Given the description of an element on the screen output the (x, y) to click on. 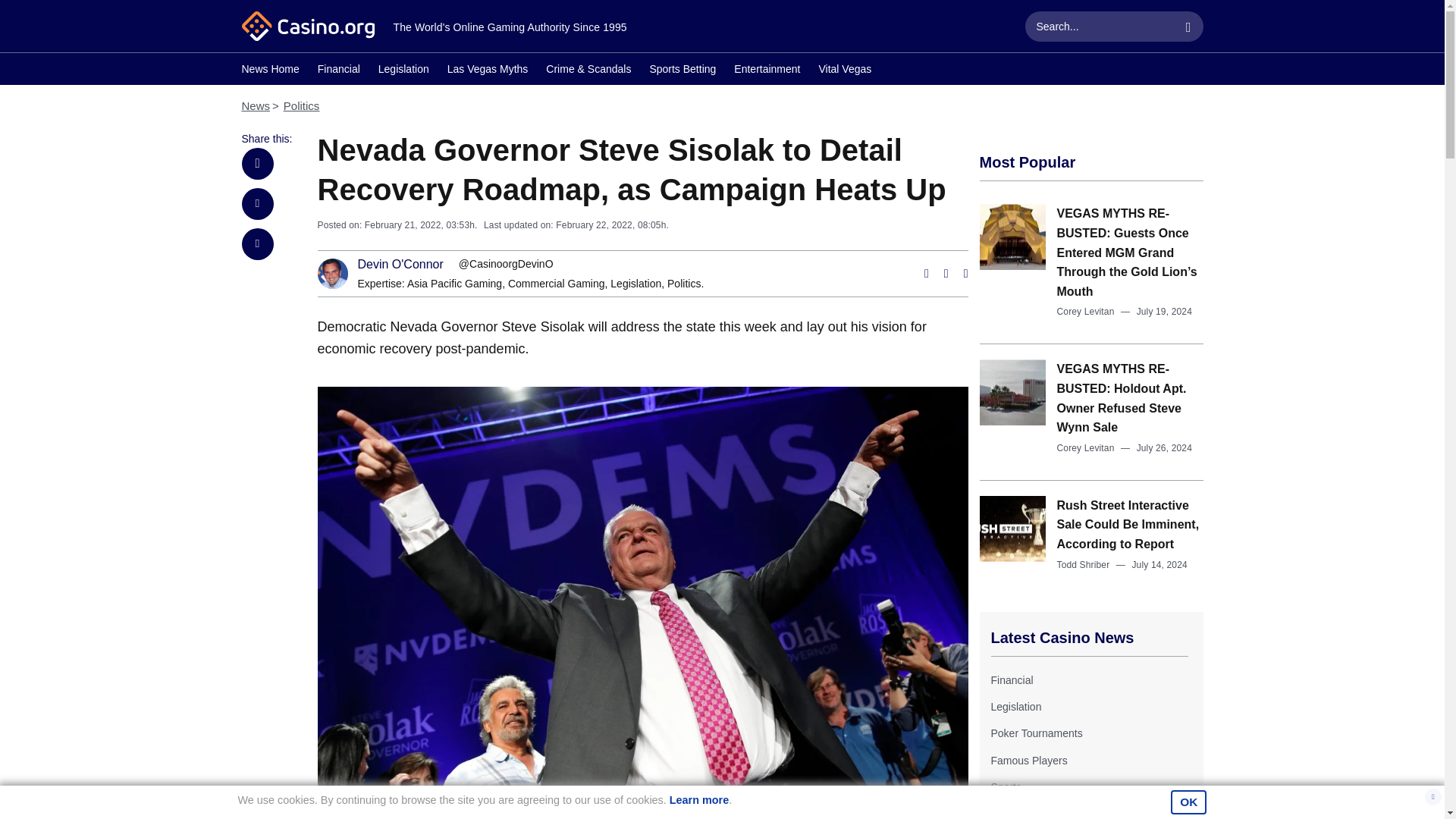
Legislation (635, 283)
Famous Players (1028, 760)
Sports Betting (682, 70)
Devin O'Connor (401, 264)
Commercial Gaming (556, 283)
Politics (301, 105)
Legislation (1015, 706)
Asia Pacific Gaming (454, 283)
Todd Shriber (1083, 564)
News Home (269, 70)
Politics (683, 283)
Las Vegas Myths (487, 70)
Vital Vegas (845, 70)
Mobile Gaming (1025, 813)
